Given the description of an element on the screen output the (x, y) to click on. 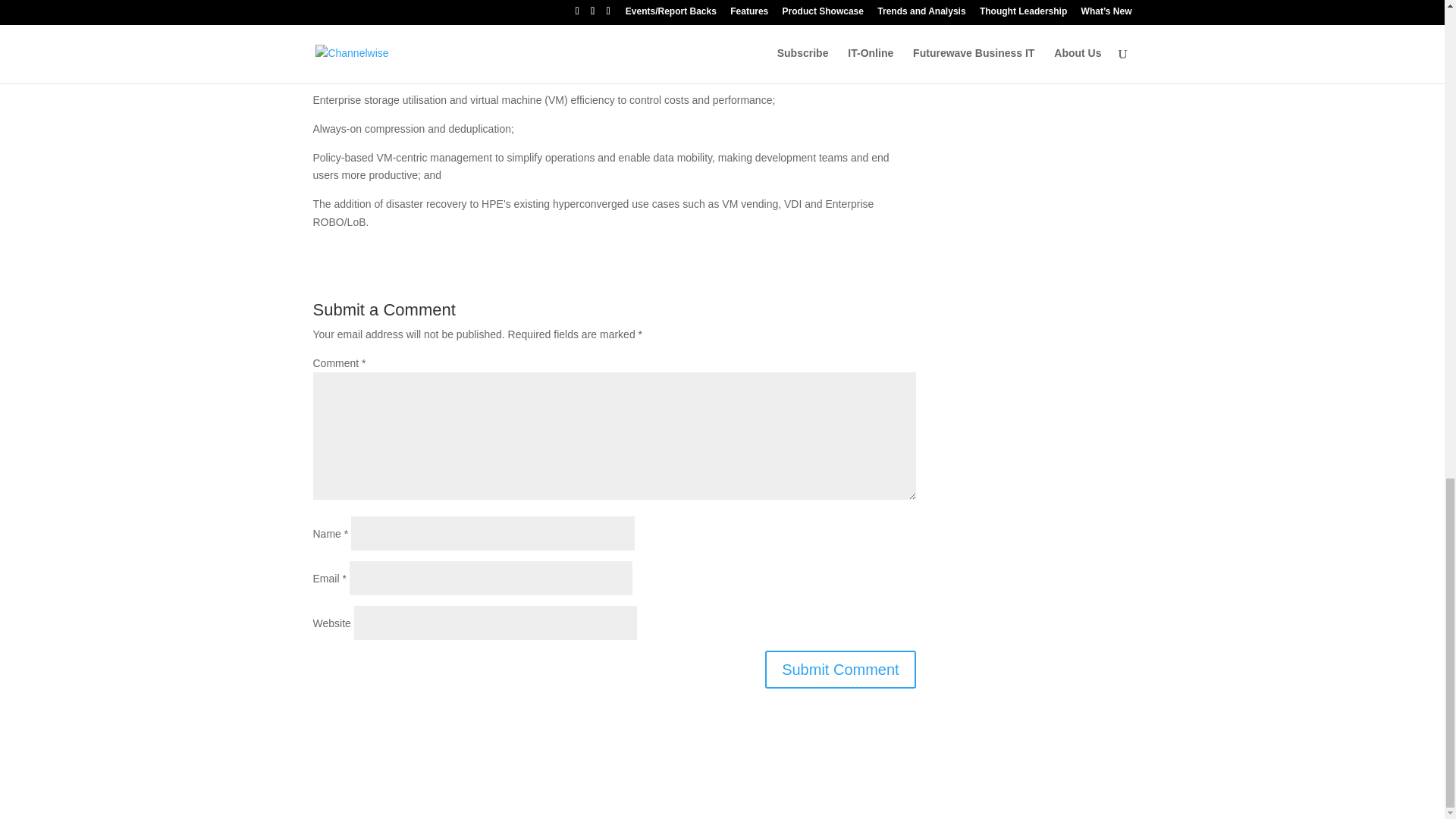
Submit Comment (840, 669)
Submit Comment (840, 669)
